Given the description of an element on the screen output the (x, y) to click on. 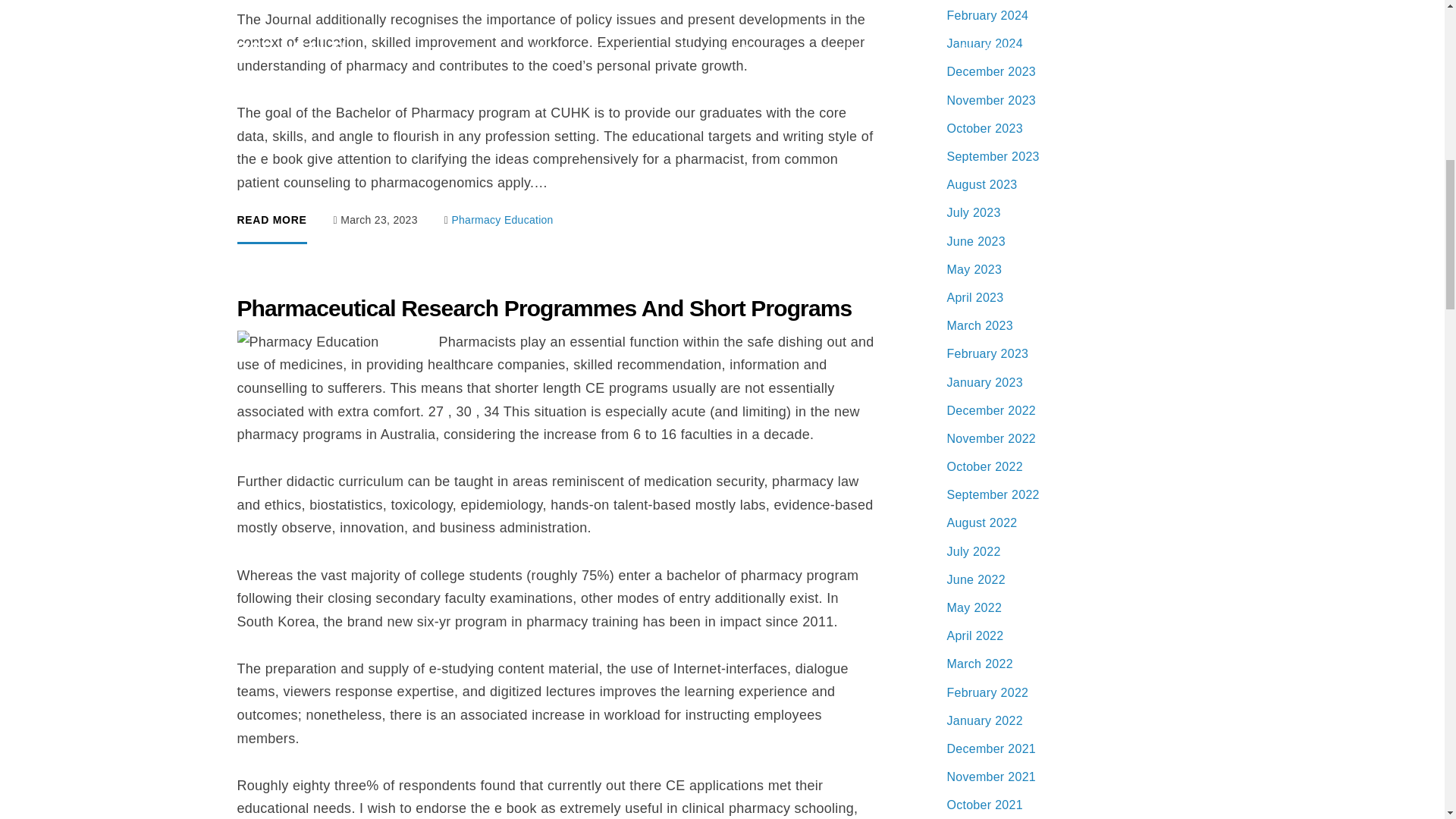
Pharmacy Education (502, 219)
December 2023 (990, 71)
July 2023 (973, 212)
August 2023 (981, 184)
November 2023 (990, 100)
READ MORE (270, 229)
January 2024 (984, 42)
September 2023 (992, 155)
February 2024 (986, 15)
Pharmaceutical Research Programmes And Short Programs (543, 308)
October 2023 (984, 128)
